Given the description of an element on the screen output the (x, y) to click on. 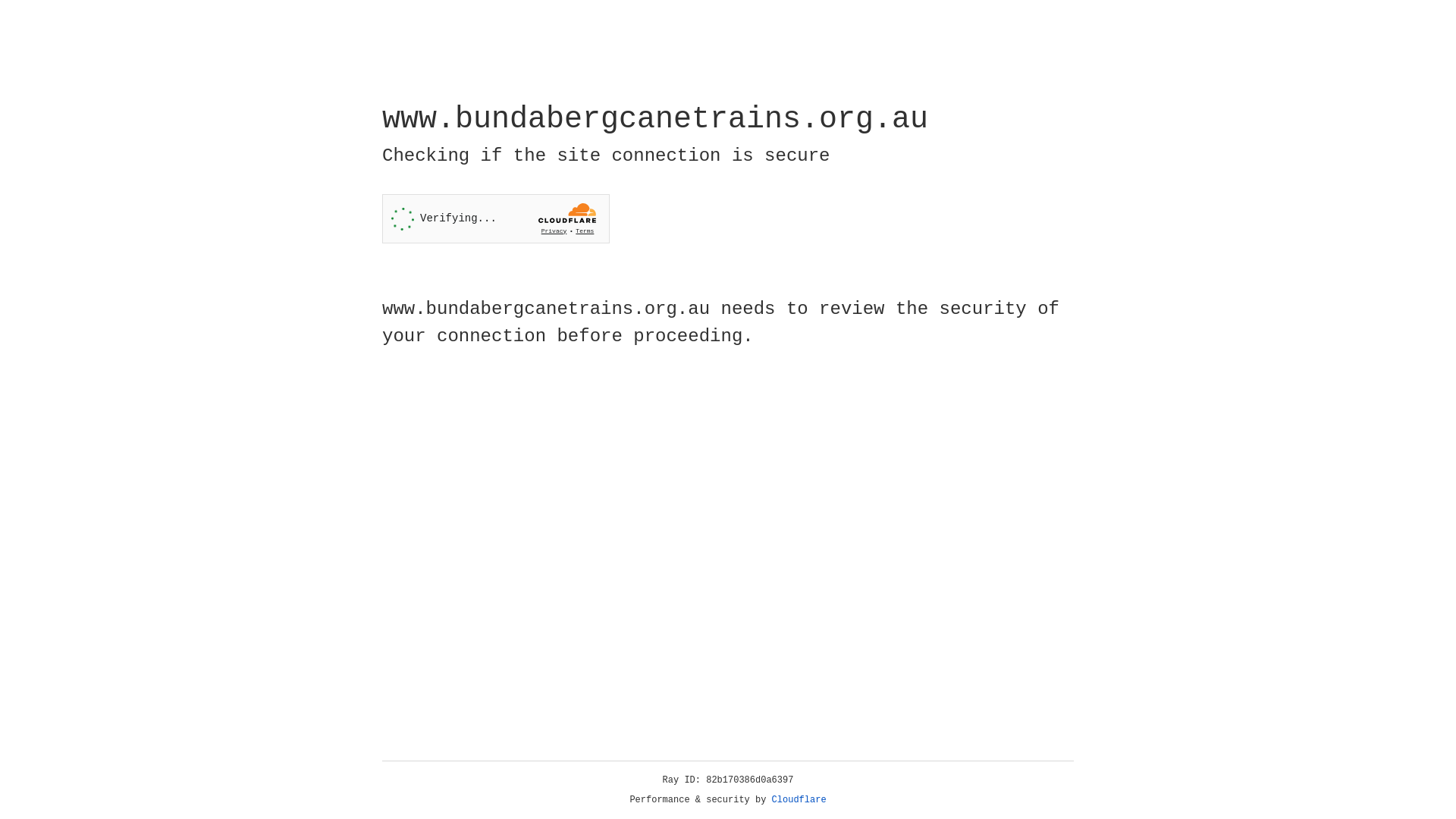
Cloudflare Element type: text (798, 799)
Widget containing a Cloudflare security challenge Element type: hover (495, 218)
